Given the description of an element on the screen output the (x, y) to click on. 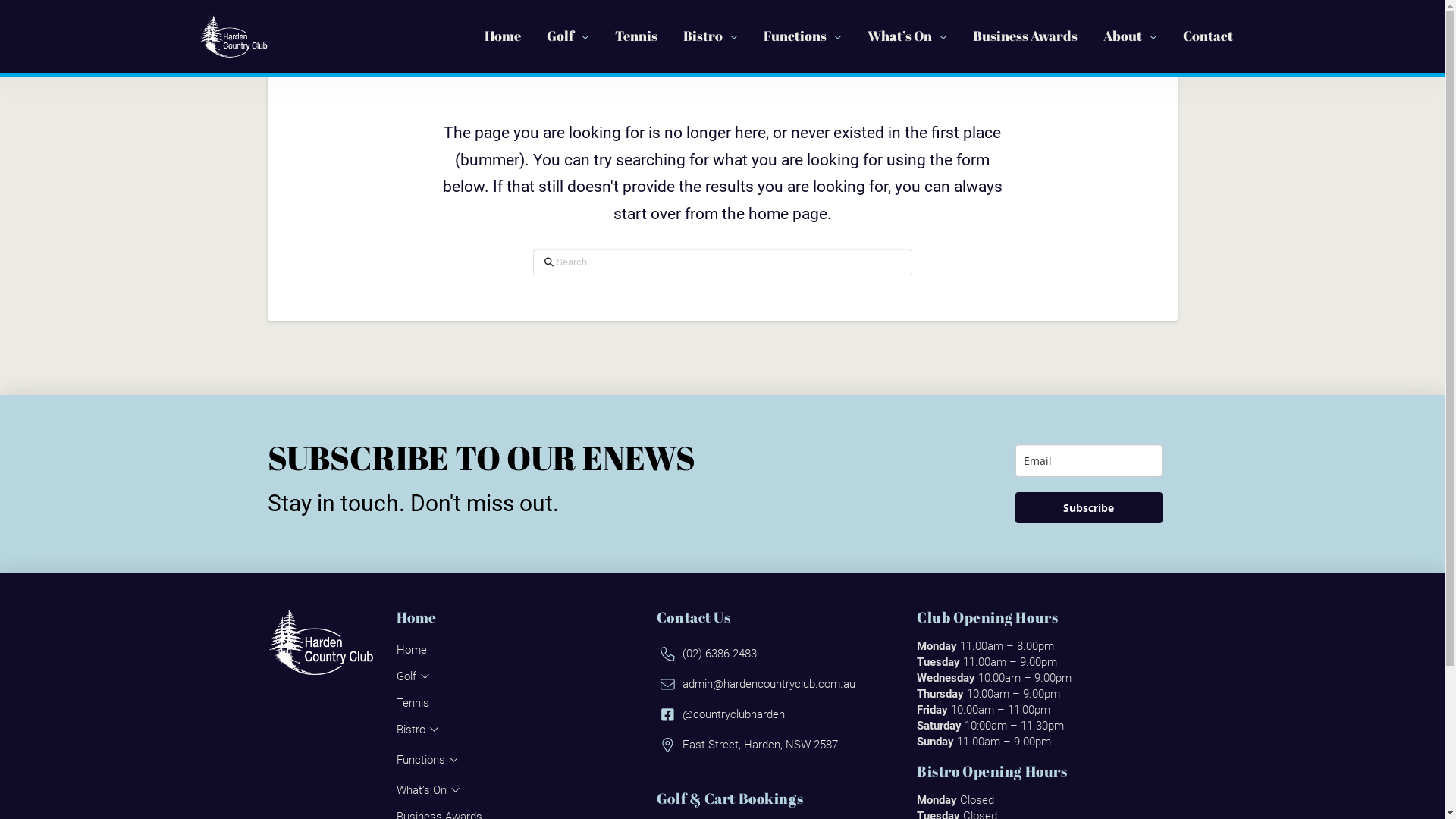
Subscribe Element type: text (1087, 507)
Functions Element type: text (432, 759)
Functions Element type: text (802, 36)
East Street, Harden, NSW 2587 Element type: text (748, 744)
Contact Element type: text (1207, 36)
Tennis Element type: text (636, 36)
Golf Element type: text (567, 36)
About Element type: text (1130, 36)
admin@hardencountryclub.com.au Element type: text (757, 683)
Bistro Element type: text (422, 729)
Tennis Element type: text (415, 702)
Home Element type: text (414, 649)
@countryclubharden Element type: text (722, 714)
(02) 6386 2483 Element type: text (708, 653)
Home Element type: text (502, 36)
Bistro Element type: text (710, 36)
Business Awards Element type: text (1025, 36)
Golf Element type: text (418, 676)
